Given the description of an element on the screen output the (x, y) to click on. 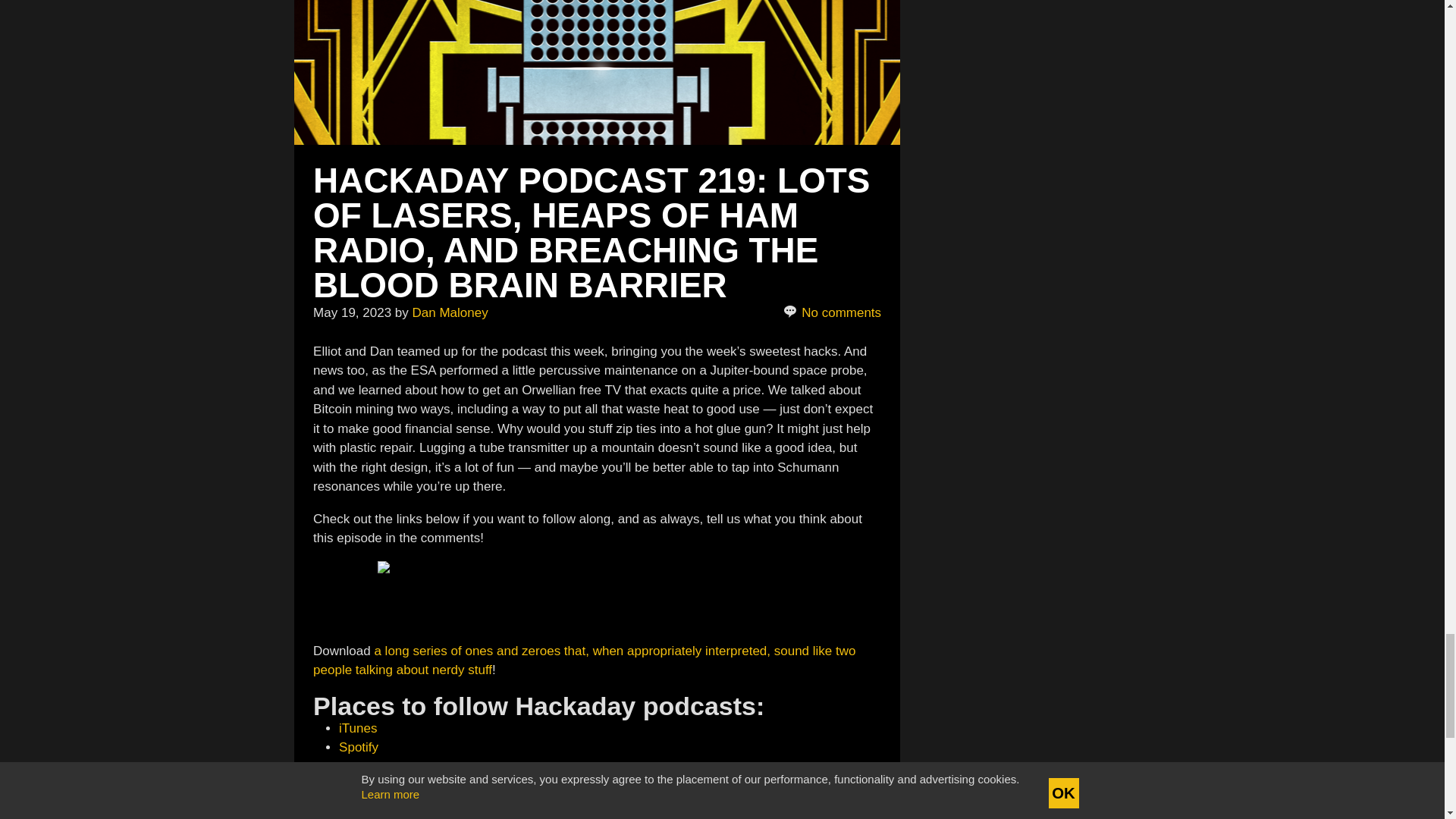
Posts by Dan Maloney (449, 312)
May 19, 2023 - 9:00 am (352, 312)
